Given the description of an element on the screen output the (x, y) to click on. 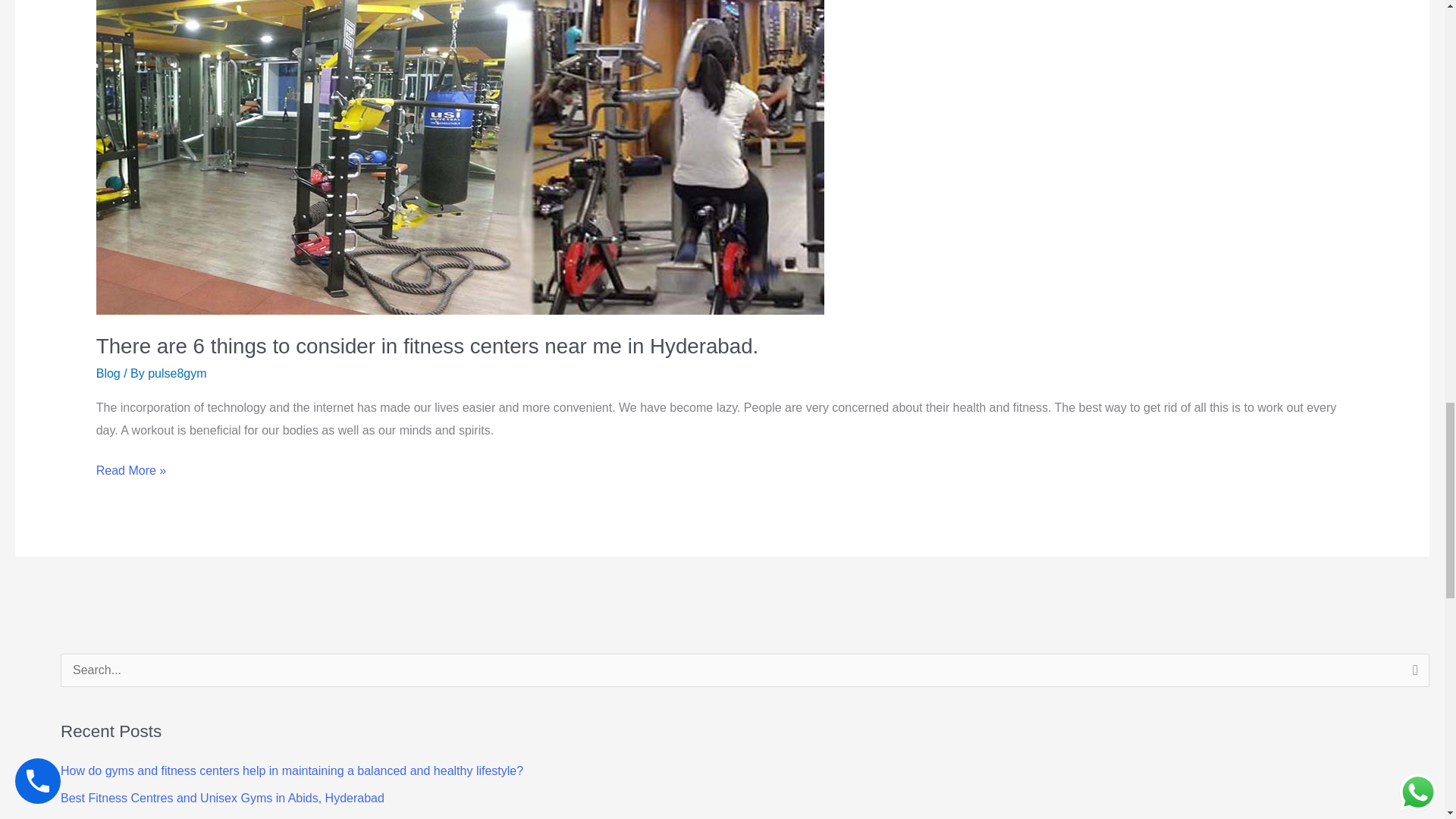
Best Fitness Centres and Unisex Gyms in Abids, Hyderabad (222, 797)
View all posts by pulse8gym (177, 373)
pulse8gym (177, 373)
Blog (108, 373)
